Given the description of an element on the screen output the (x, y) to click on. 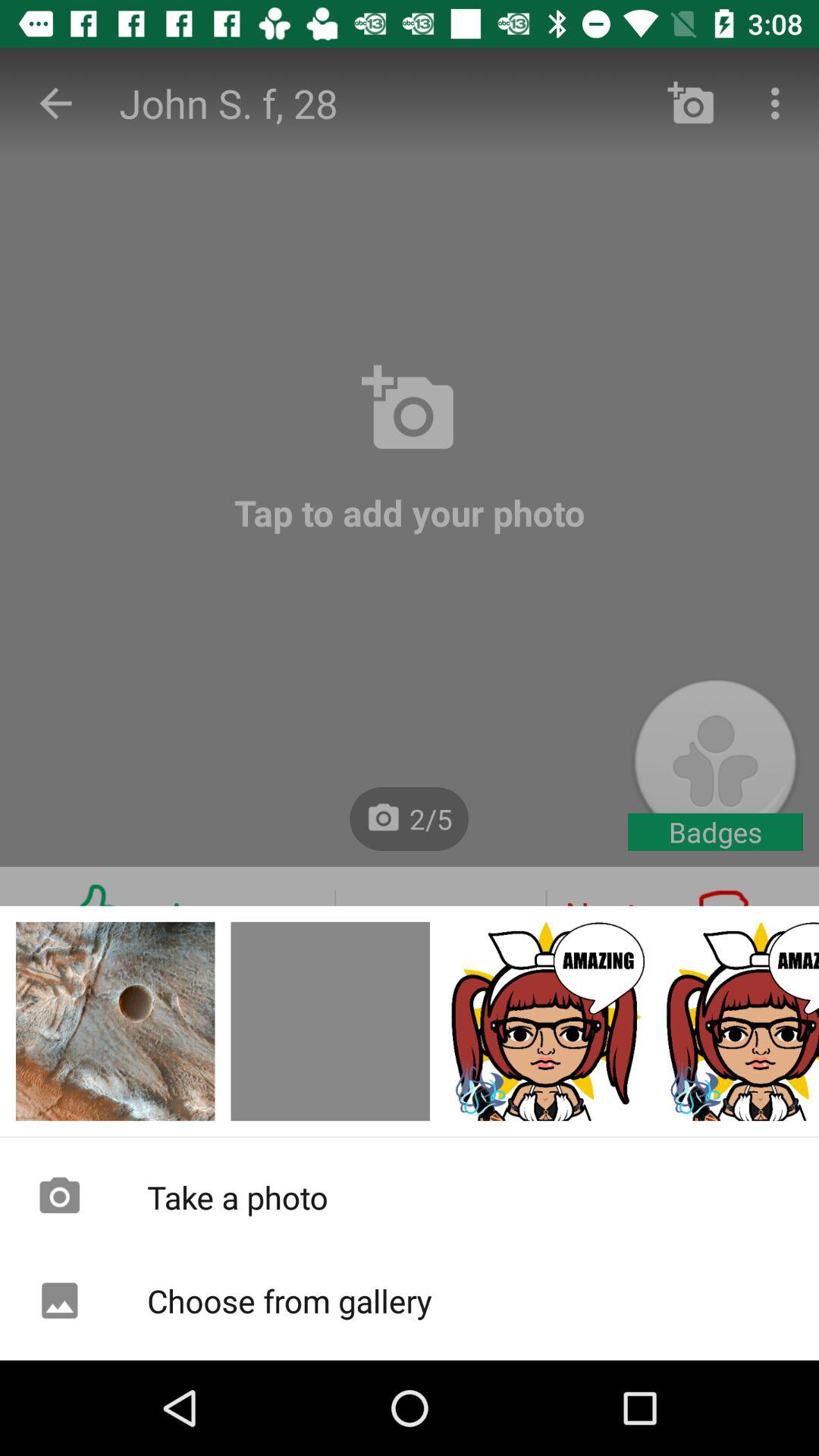
turn on take a photo icon (409, 1196)
